Given the description of an element on the screen output the (x, y) to click on. 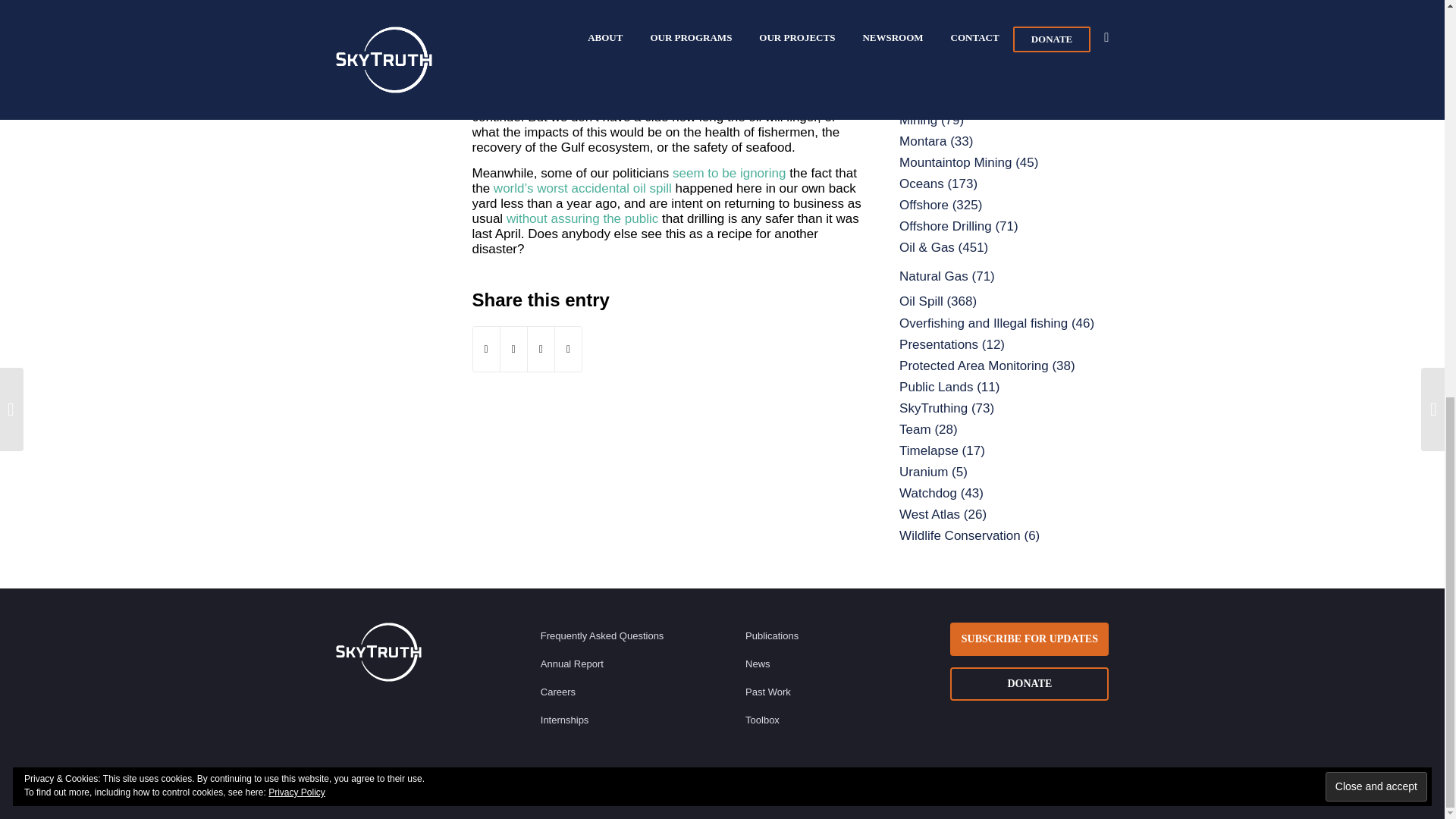
Instagram (1029, 790)
X (983, 790)
Facebook (1005, 790)
Close and accept (1375, 16)
